Given the description of an element on the screen output the (x, y) to click on. 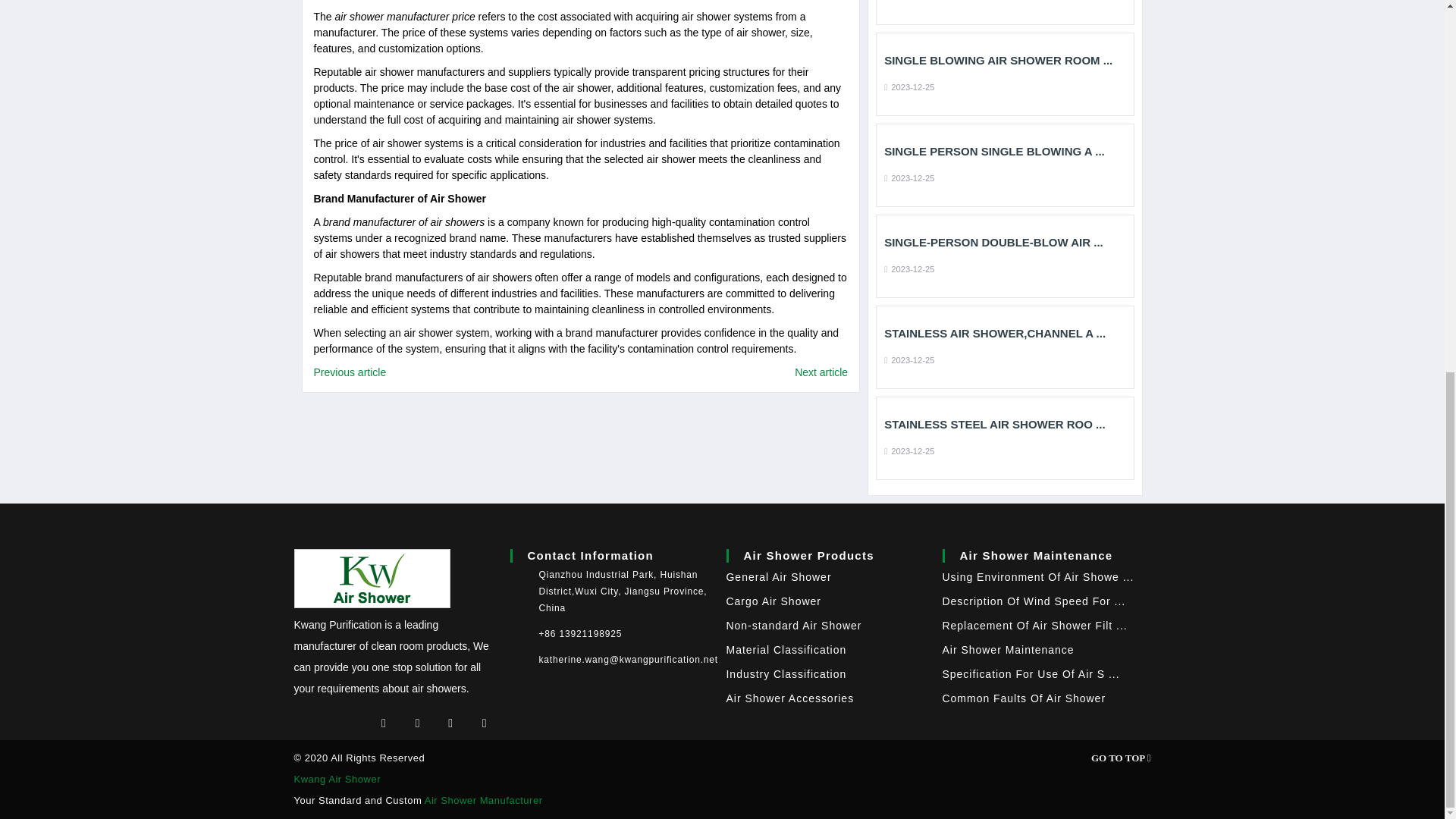
Specification For Use Of Air Shower (1030, 674)
Common Faults Of Air Shower (1023, 698)
SINGLE BLOWING AIR SHOWER ROOM ... (1004, 60)
STAINLESS AIR SHOWER,CHANNEL A ... (1004, 333)
2023-12-25 (908, 450)
Non-standard Air Shower (793, 625)
Next article (820, 372)
Air Shower Maintenance (1008, 649)
Air Shower Accessories (790, 698)
Replacement Of Air Shower Filter (1034, 625)
Previous article (350, 372)
Industry Classification (786, 674)
2023-12-25 (908, 0)
STAINLESS STEEL AIR SHOWER ROO ... (1004, 424)
2023-12-25 (908, 177)
